Given the description of an element on the screen output the (x, y) to click on. 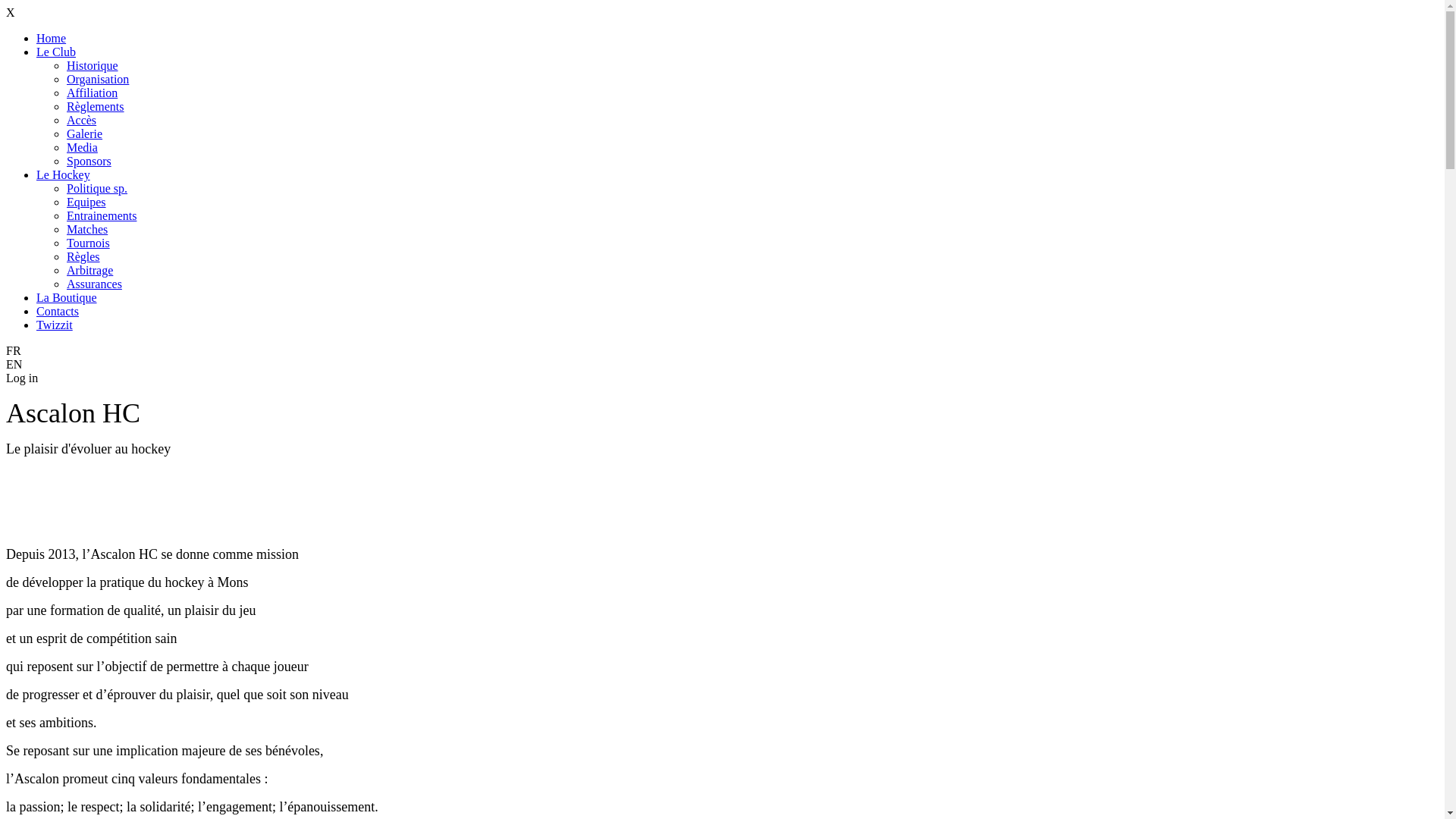
Le Club Element type: text (55, 51)
Politique sp. Element type: text (96, 188)
Sponsors Element type: text (88, 160)
Le Hockey Element type: text (63, 174)
Assurances Element type: text (94, 283)
X Element type: text (10, 12)
FR Element type: text (722, 350)
Log in Element type: text (21, 377)
Equipes Element type: text (86, 201)
EN Element type: text (722, 364)
Media Element type: text (81, 147)
Galerie Element type: text (84, 133)
Home Element type: text (50, 37)
Matches Element type: text (86, 228)
Historique Element type: text (92, 65)
Contacts Element type: text (57, 310)
Organisation Element type: text (97, 78)
La Boutique Element type: text (66, 297)
Entrainements Element type: text (101, 215)
Affiliation Element type: text (91, 92)
Arbitrage Element type: text (89, 269)
Twizzit Element type: text (54, 324)
Tournois Element type: text (87, 242)
